Given the description of an element on the screen output the (x, y) to click on. 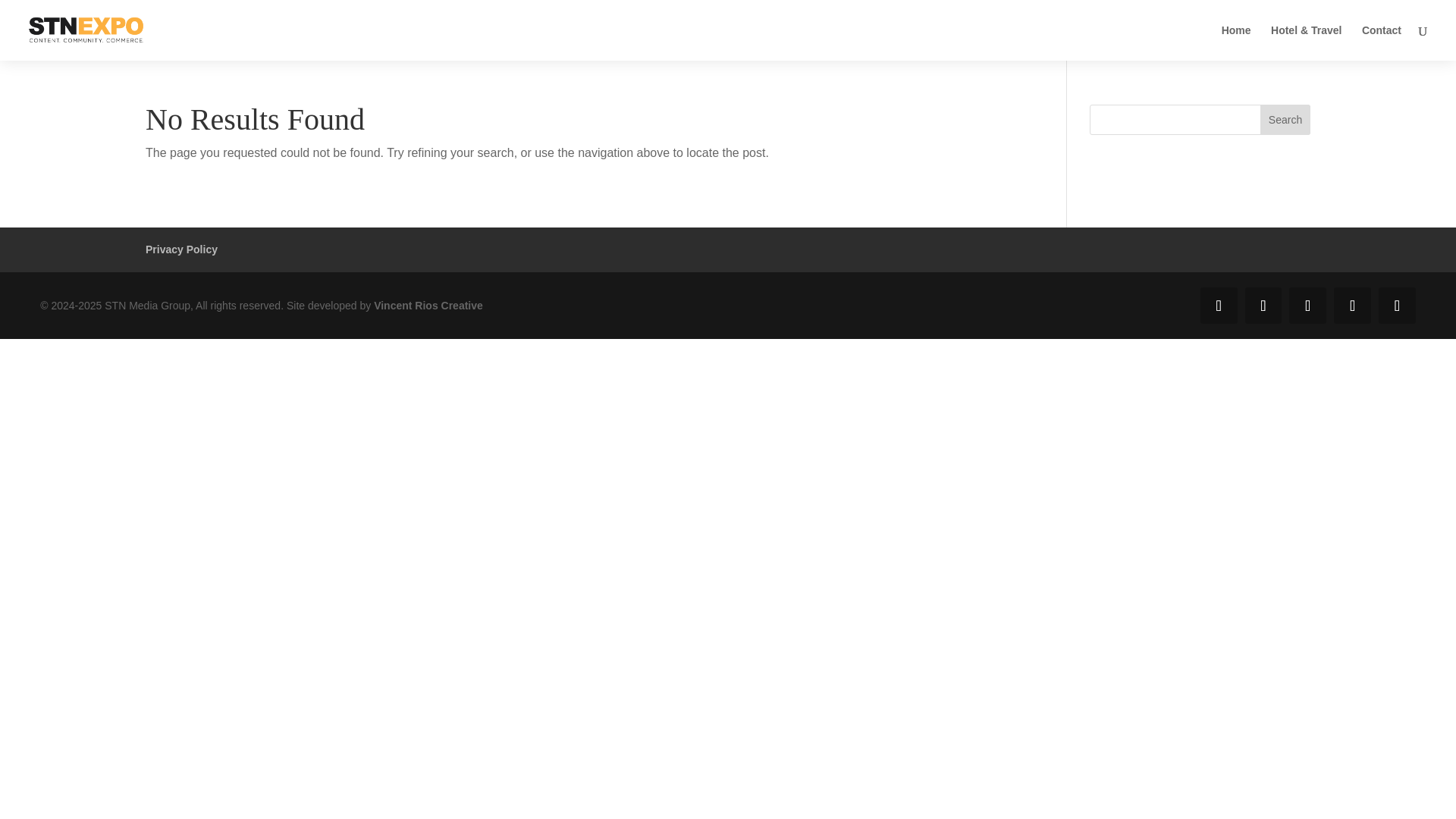
Search (1285, 119)
Privacy Policy (180, 249)
Home (1235, 42)
Contact (1380, 42)
Vincent Rios Creative (428, 305)
Search (1285, 119)
